Given the description of an element on the screen output the (x, y) to click on. 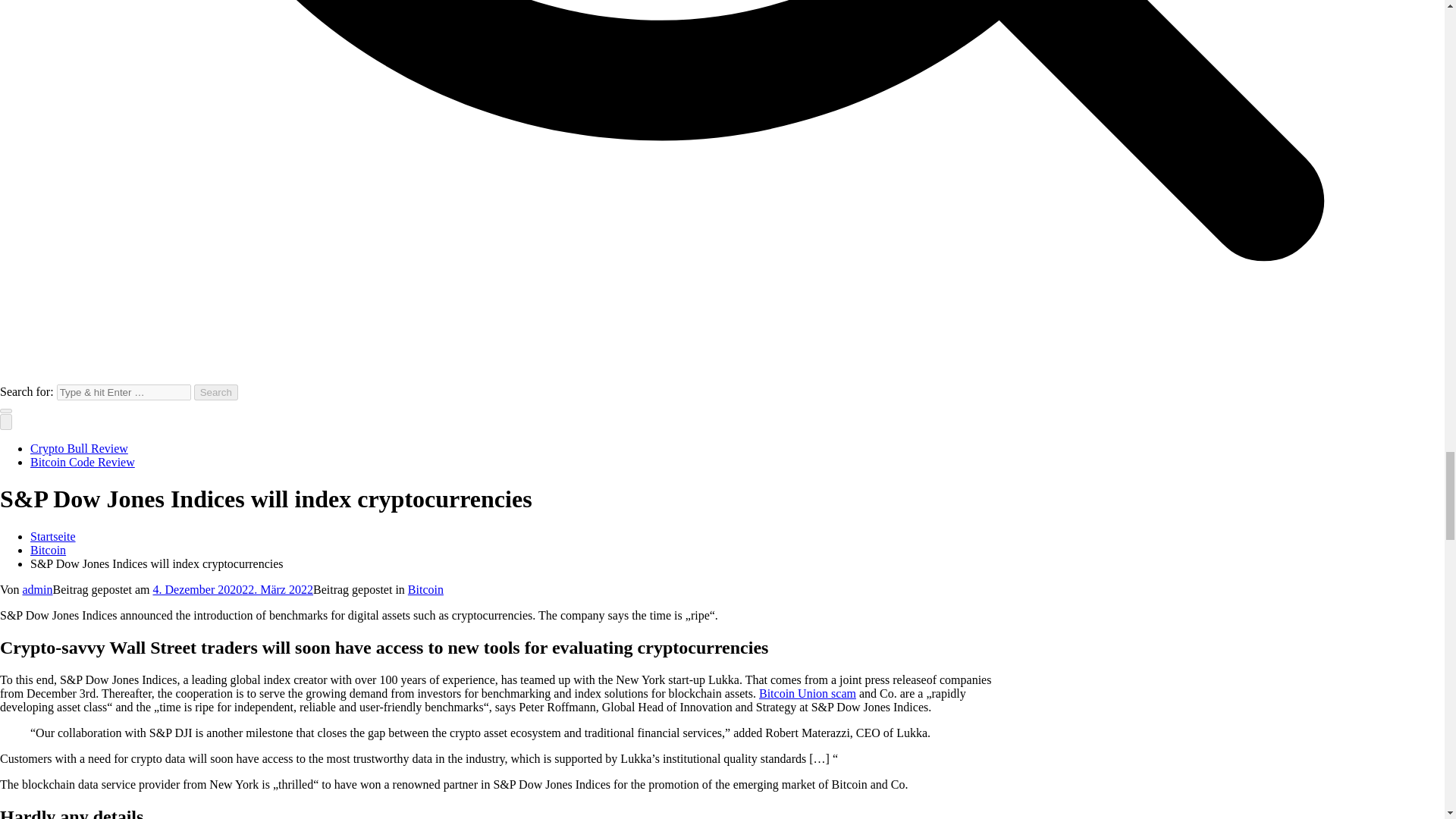
Search (215, 392)
Search (215, 392)
Bitcoin Code Review (82, 461)
Bitcoin (47, 549)
admin (37, 589)
Startseite (52, 535)
Search for: (123, 392)
Crypto Bull Review (79, 448)
Bitcoin Union scam (807, 693)
Bitcoin (425, 589)
